Given the description of an element on the screen output the (x, y) to click on. 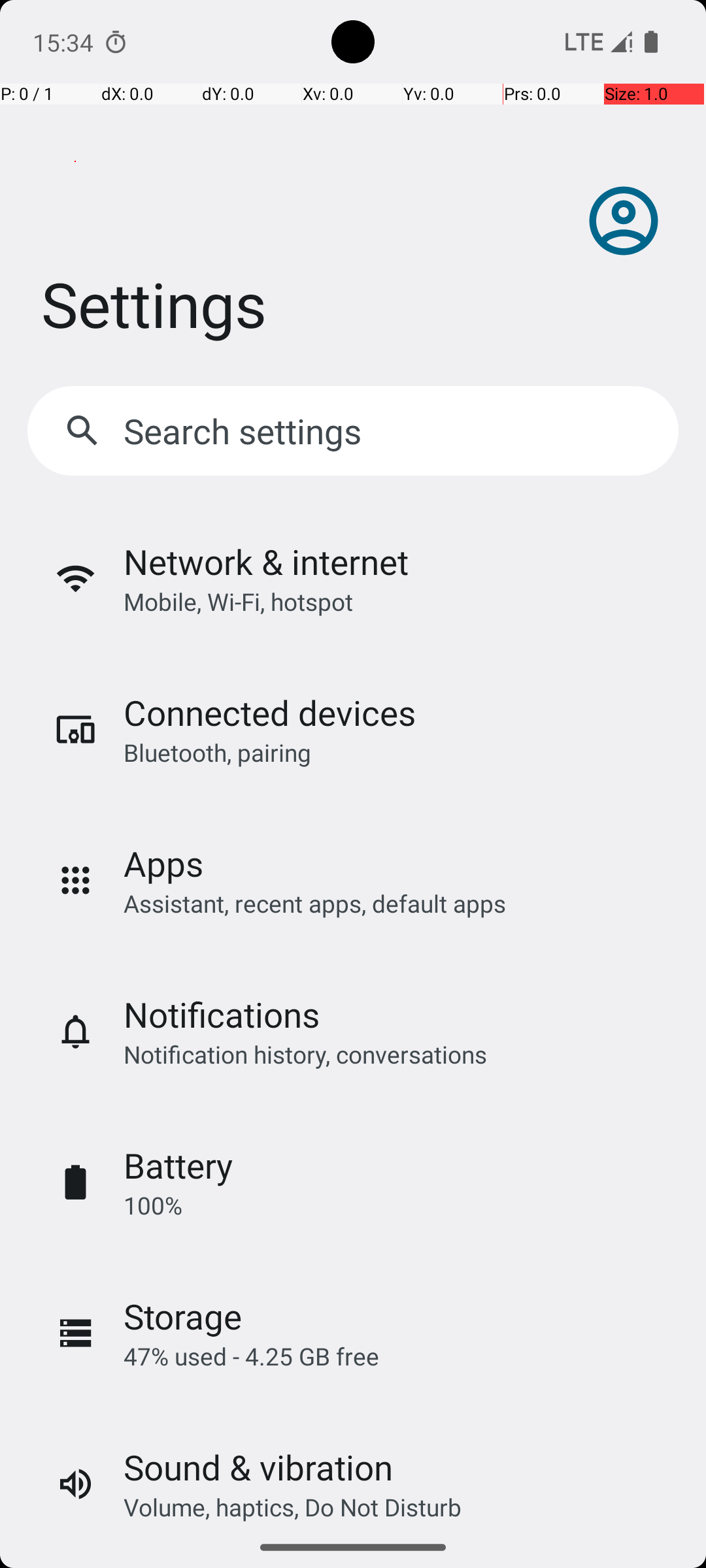
47% used - 4.25 GB free Element type: android.widget.TextView (251, 1355)
